Given the description of an element on the screen output the (x, y) to click on. 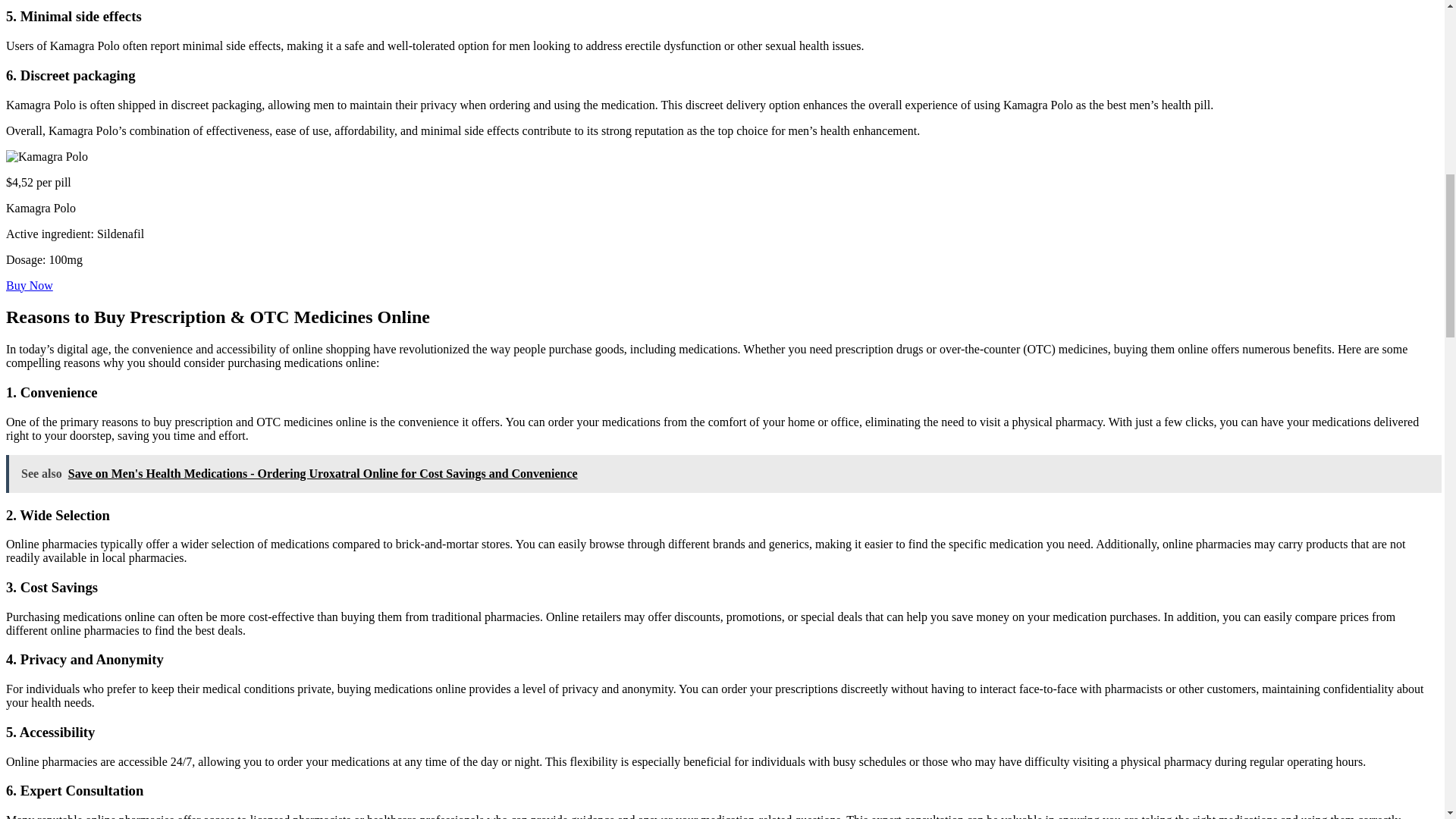
Buy Now (28, 285)
